Given the description of an element on the screen output the (x, y) to click on. 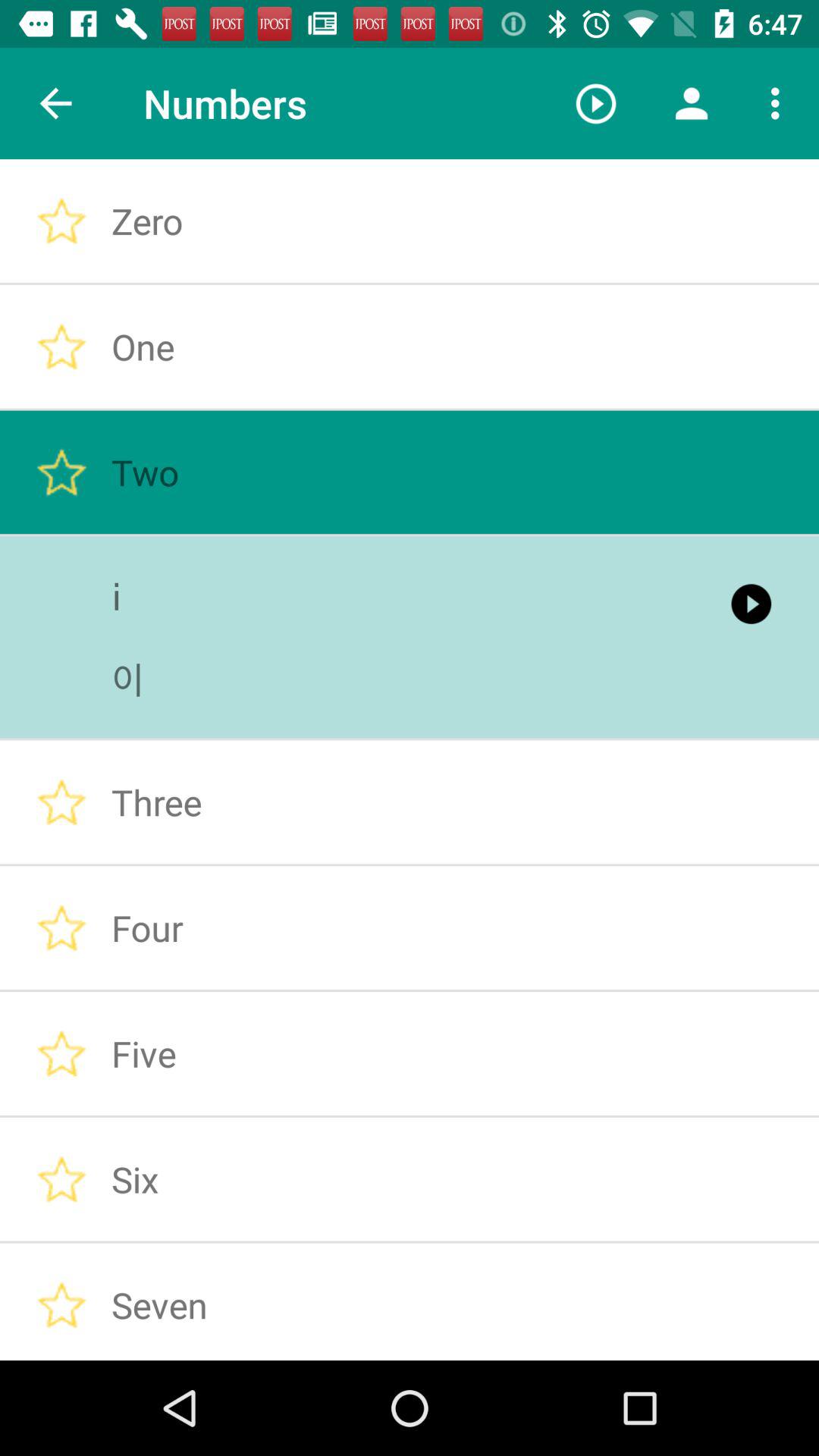
tap the item to the right of the numbers icon (595, 103)
